Given the description of an element on the screen output the (x, y) to click on. 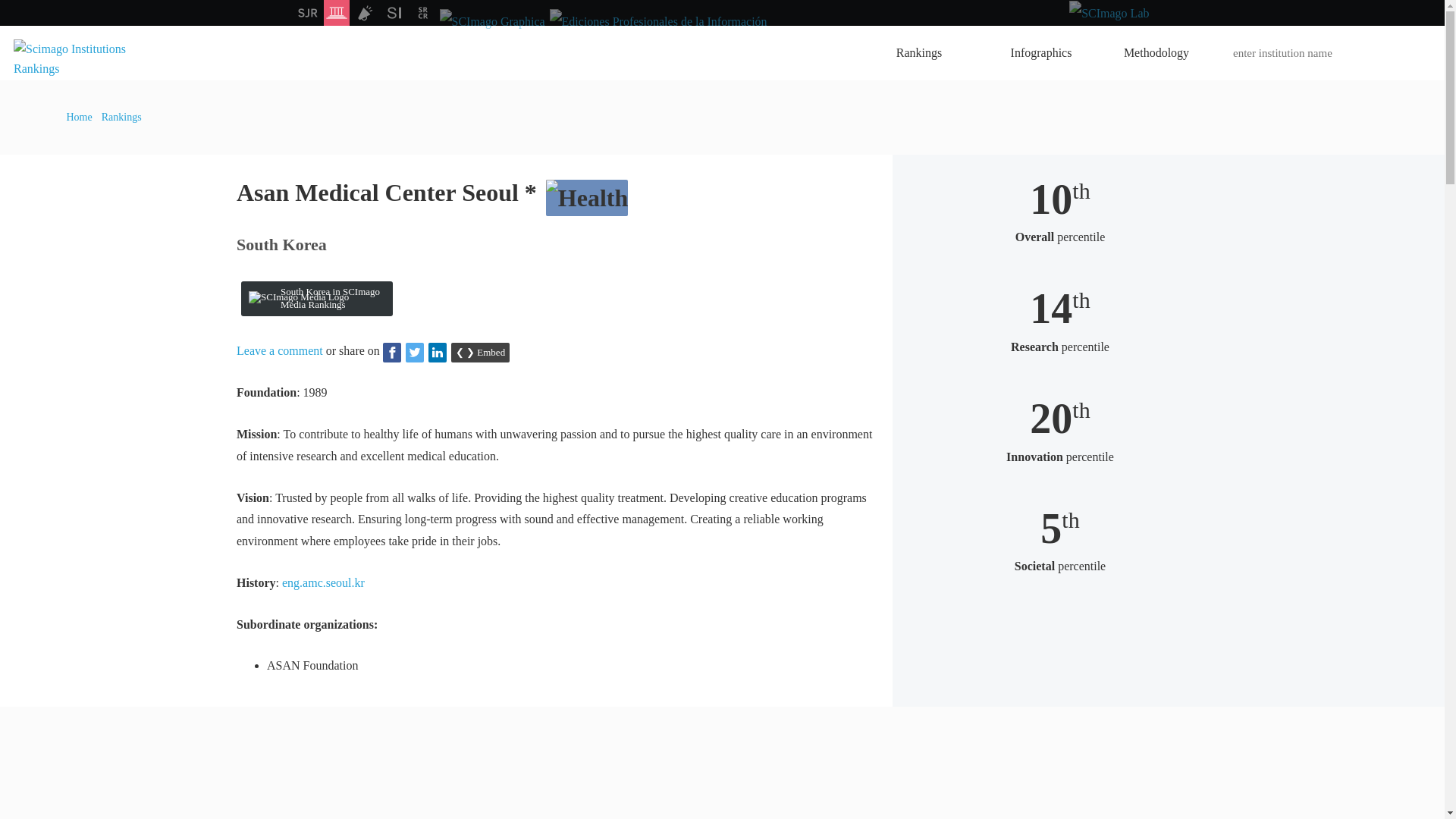
Rankings (925, 52)
visit SCImago Media Rankings - South Korea (317, 298)
home page (77, 68)
Leave a comment (279, 350)
South Korea in SCImago Media Rankings (317, 298)
Rankings (121, 116)
Health (586, 197)
eng.amc.seoul.kr (323, 582)
Methodology (1156, 52)
Infographics (1041, 52)
